Given the description of an element on the screen output the (x, y) to click on. 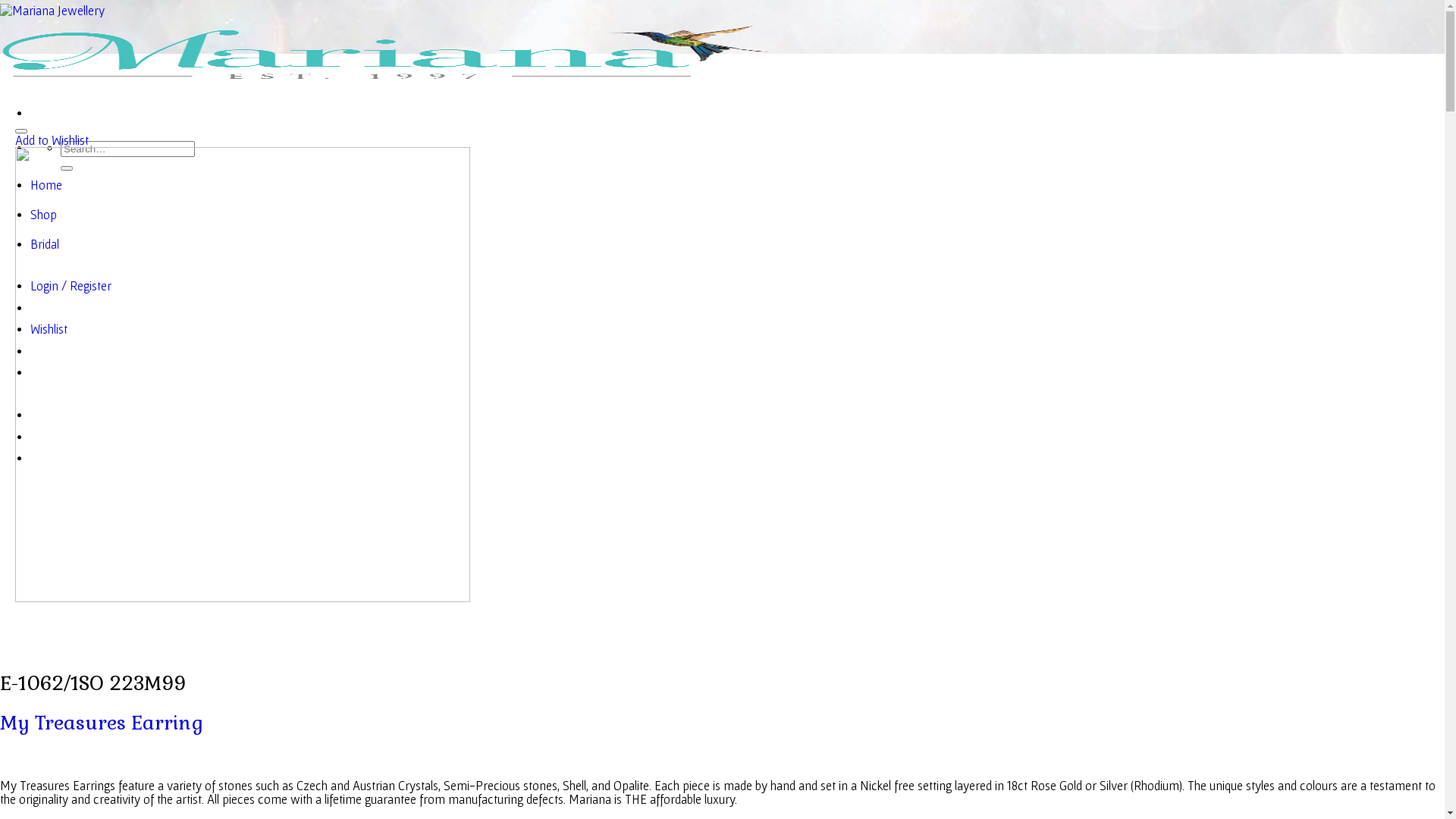
Shop Element type: text (43, 214)
Mariana Jewellery - OFFICIAL STORE Element type: hover (386, 44)
Earring Element type: text (167, 722)
Login / Register Element type: text (70, 285)
Bridal Element type: text (44, 244)
Home Element type: text (46, 184)
Search Element type: text (66, 168)
My Treasures Element type: text (62, 722)
Add to Wishlist Element type: text (51, 140)
Wishlist Element type: text (48, 328)
